Given the description of an element on the screen output the (x, y) to click on. 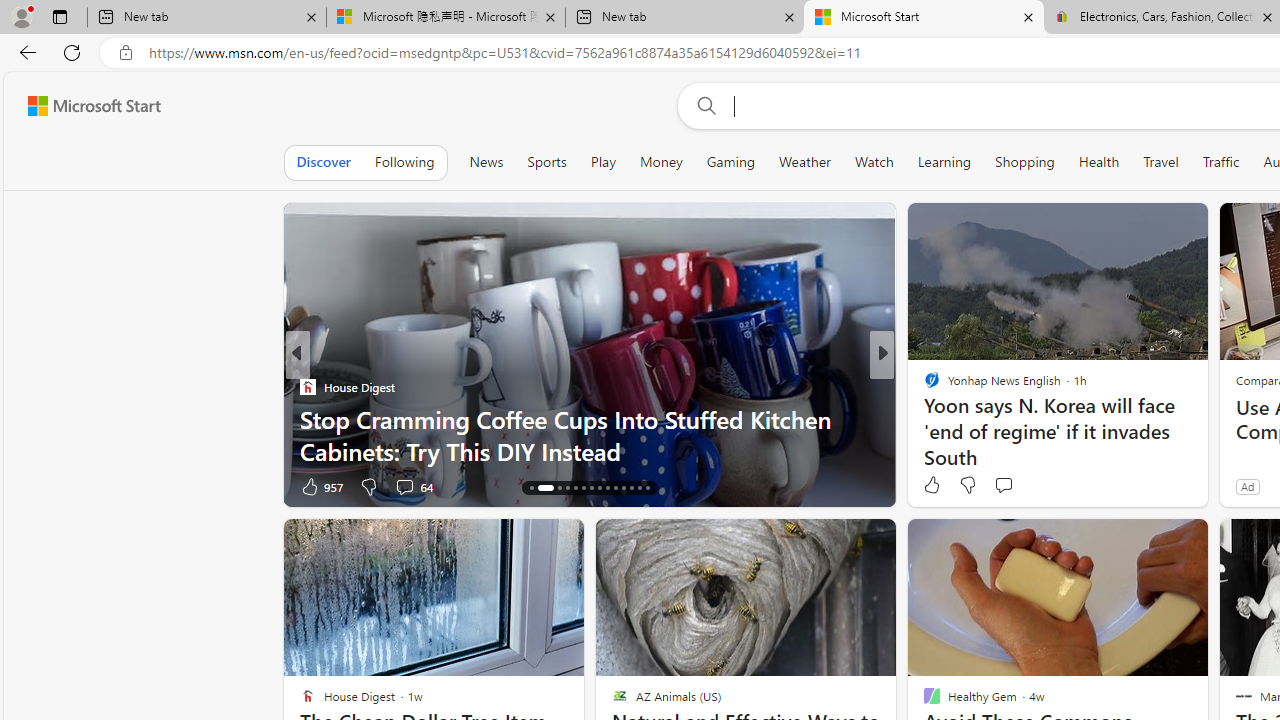
View comments 18 Comment (1029, 486)
TheStreet (923, 386)
View comments 18 Comment (1019, 485)
AutomationID: tab-18 (567, 487)
View comments 37 Comment (1013, 485)
Hide this story (1147, 542)
AutomationID: tab-25 (623, 487)
